Given the description of an element on the screen output the (x, y) to click on. 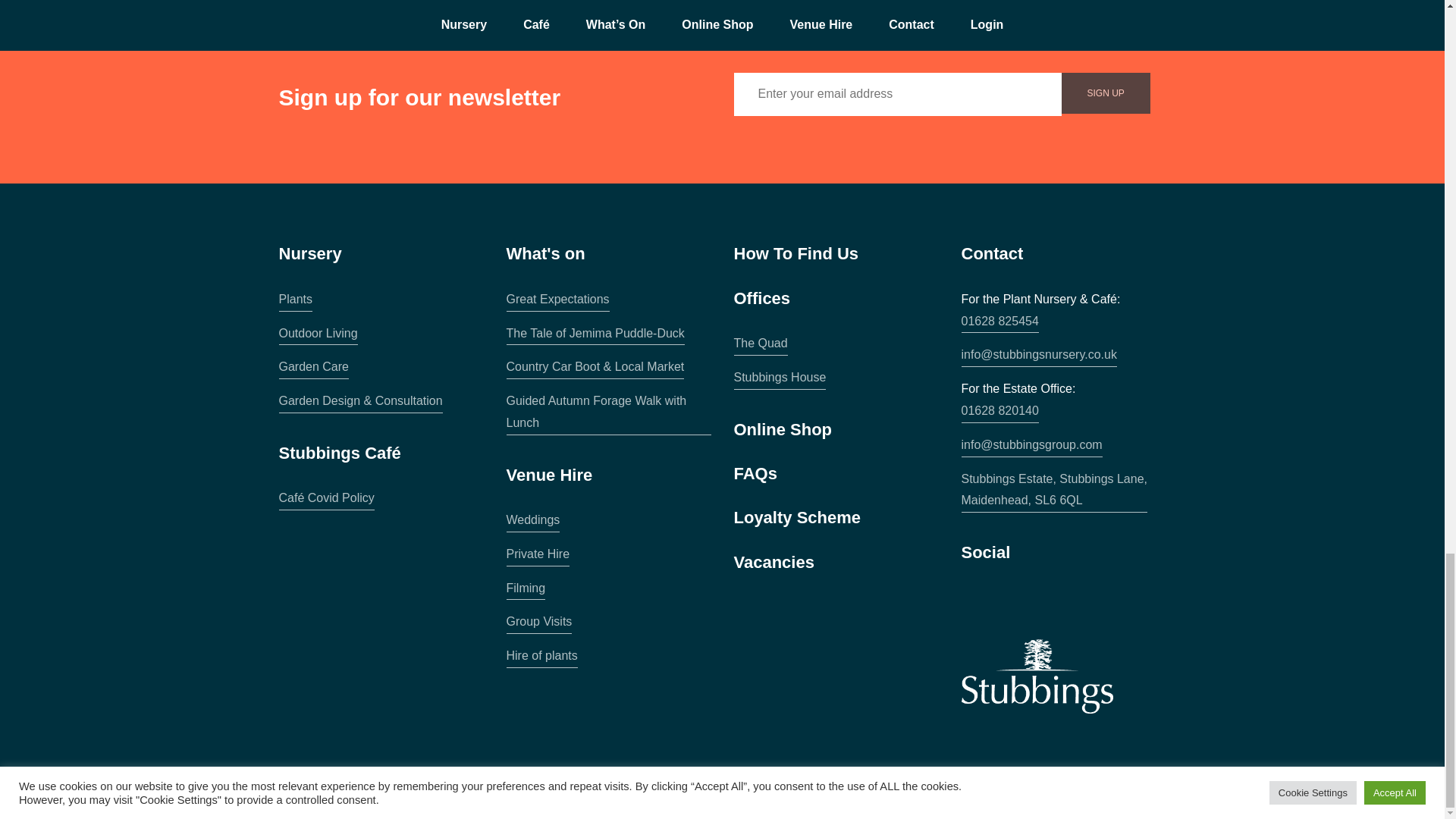
Outdoor Living (318, 333)
Surrey Wordpress Development (1113, 795)
The Tale of Jemima Puddle-Duck (595, 333)
Great Expectations (558, 300)
SIGN UP (1105, 92)
Nursery (310, 253)
Plants (296, 300)
Garden Care (314, 367)
What's on (545, 253)
